Given the description of an element on the screen output the (x, y) to click on. 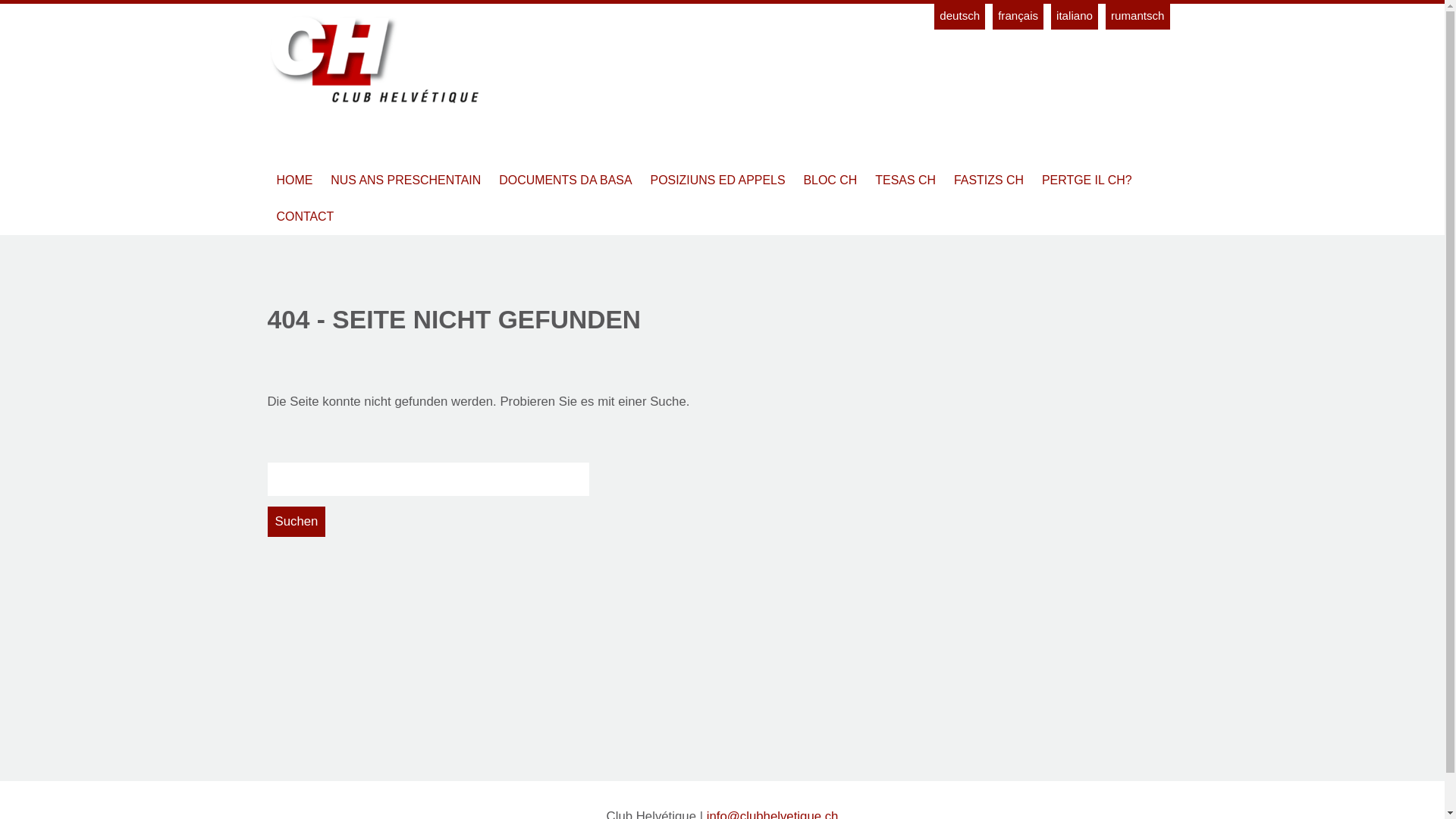
POSIZIUNS ED APPELS Element type: text (717, 180)
NUS ANS PRESCHENTAIN Element type: text (405, 180)
italiano Element type: text (1074, 15)
DOCUMENTS DA BASA Element type: text (564, 180)
HOME Element type: text (293, 180)
CONTACT Element type: text (304, 216)
TESAS CH Element type: text (905, 180)
rumantsch Element type: text (1137, 15)
PERTGE IL CH? Element type: text (1086, 180)
FASTIZS CH Element type: text (988, 180)
deutsch Element type: text (959, 15)
Suchen Element type: text (295, 521)
BLOC CH Element type: text (830, 180)
